Given the description of an element on the screen output the (x, y) to click on. 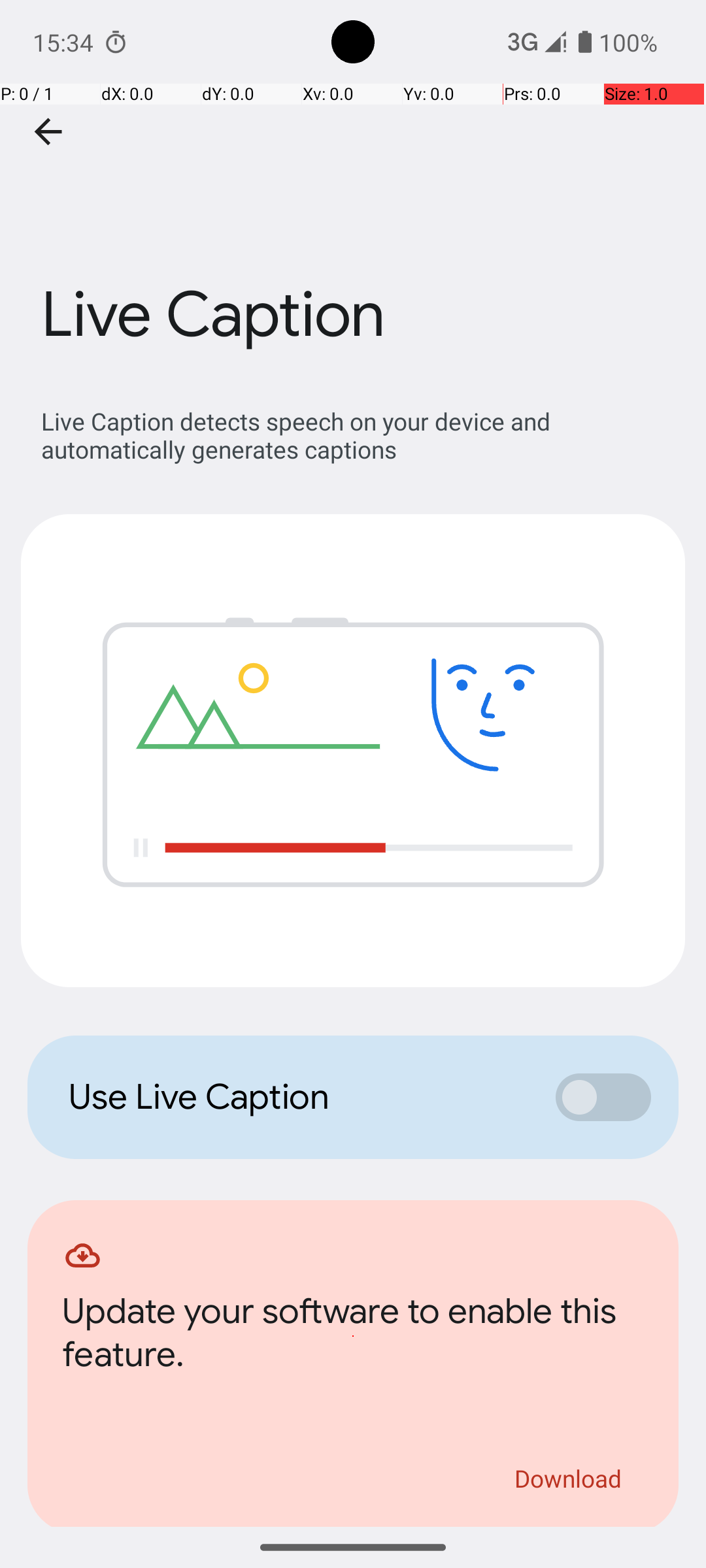
Live Caption Element type: android.widget.FrameLayout (353, 195)
Live Caption detects speech on your device and automatically generates captions Element type: android.widget.TextView (359, 434)
Use Live Caption Element type: android.widget.TextView (298, 1096)
Update your software to enable this feature. Element type: android.widget.TextView (352, 1336)
Download Element type: android.widget.Button (567, 1478)
